Given the description of an element on the screen output the (x, y) to click on. 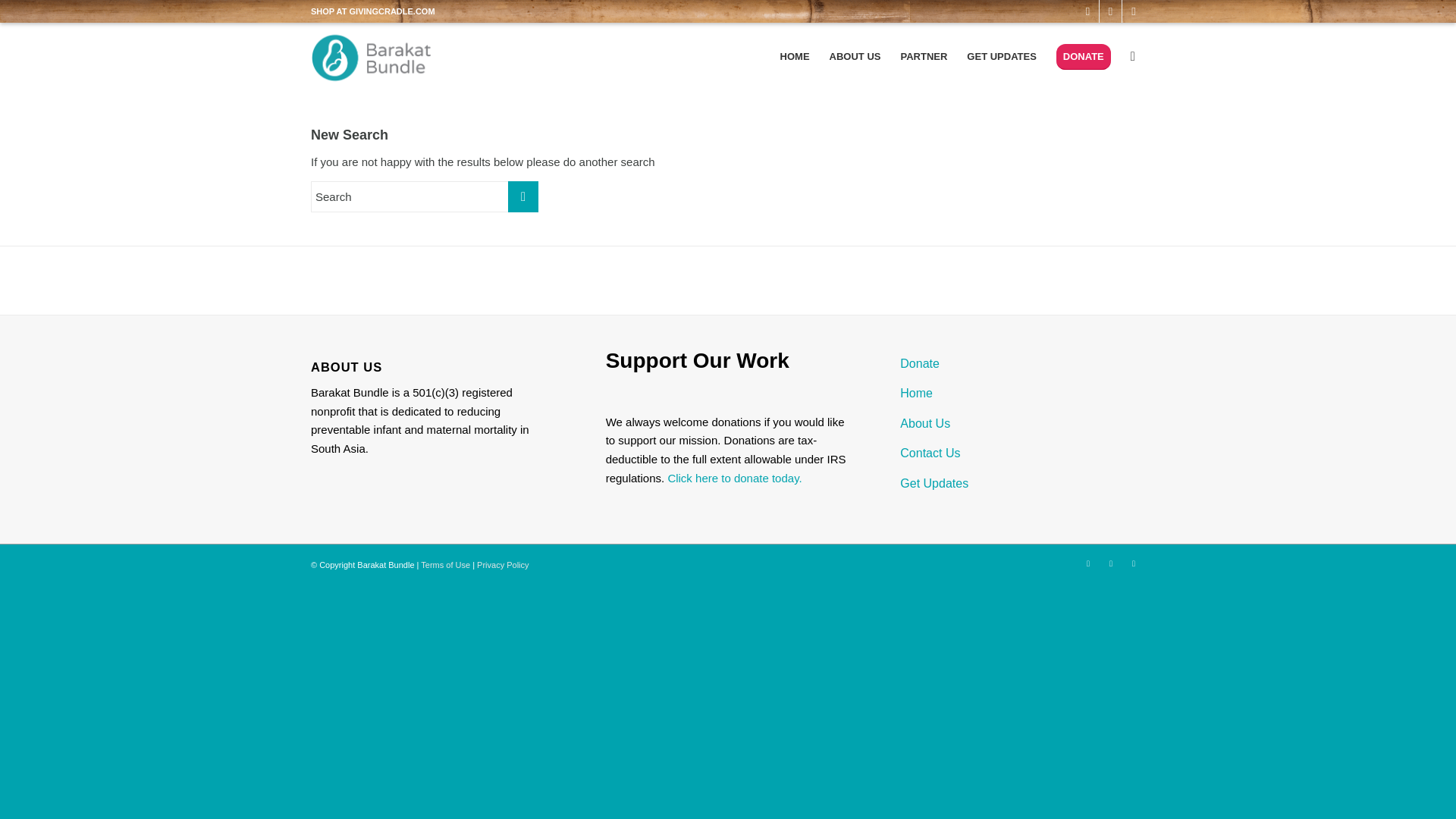
DONATE (1083, 56)
Get Updates (1021, 483)
Facebook (1088, 11)
Facebook (1088, 563)
PARTNER (922, 56)
ABOUT US (855, 56)
Privacy Policy (502, 564)
Terms of Use (445, 564)
GIVINGCRADLE.COM (392, 10)
Contact Us (1021, 453)
Instagram (1133, 11)
Donate (1021, 364)
Twitter (1110, 563)
Twitter (1110, 11)
Click here to donate today. (734, 477)
